Given the description of an element on the screen output the (x, y) to click on. 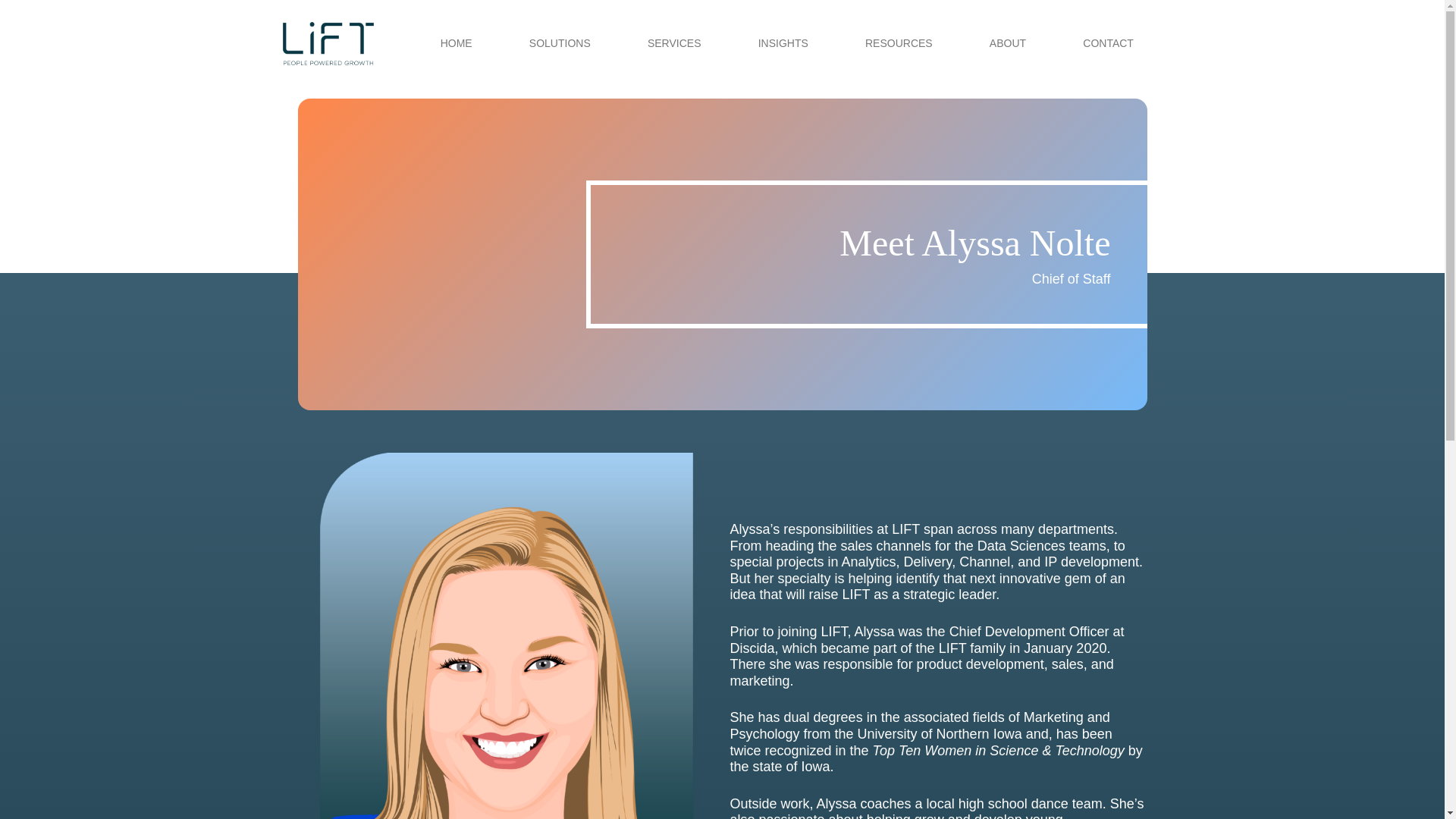
CONTACT (1107, 43)
SERVICES (673, 43)
RESOURCES (897, 43)
INSIGHTS (782, 43)
ABOUT (1007, 43)
SOLUTIONS (559, 43)
HOME (456, 43)
